Given the description of an element on the screen output the (x, y) to click on. 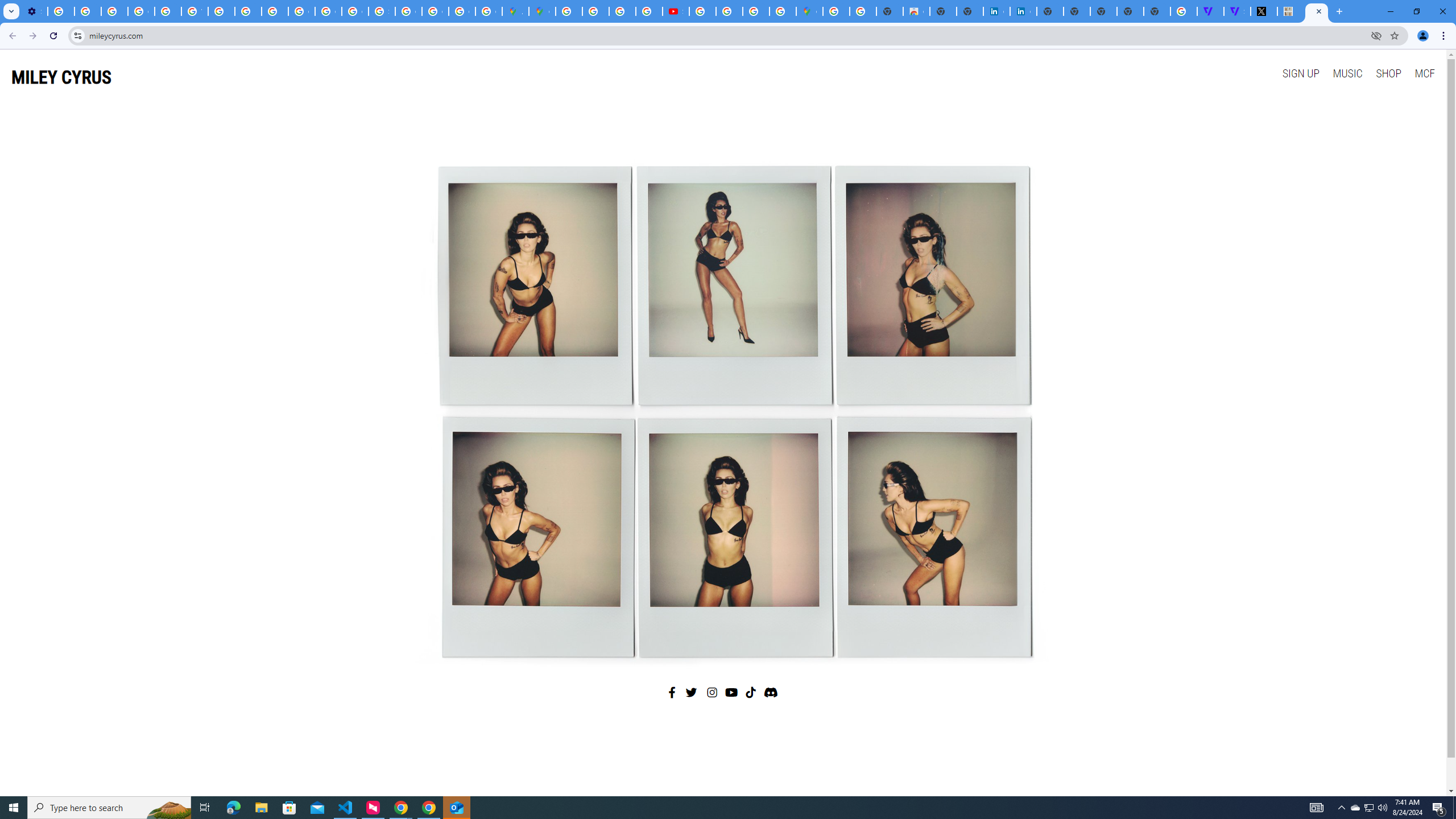
Chrome Web Store (916, 11)
https://scholar.google.com/ (221, 11)
Cookie Policy | LinkedIn (996, 11)
Miley Cyrus (@MileyCyrus) / X (1263, 11)
Subscriptions - YouTube (676, 11)
Delete photos & videos - Computer - Google Photos Help (61, 11)
Privacy Help Center - Policies Help (167, 11)
How Chrome protects your passwords - Google Chrome Help (702, 11)
